Given the description of an element on the screen output the (x, y) to click on. 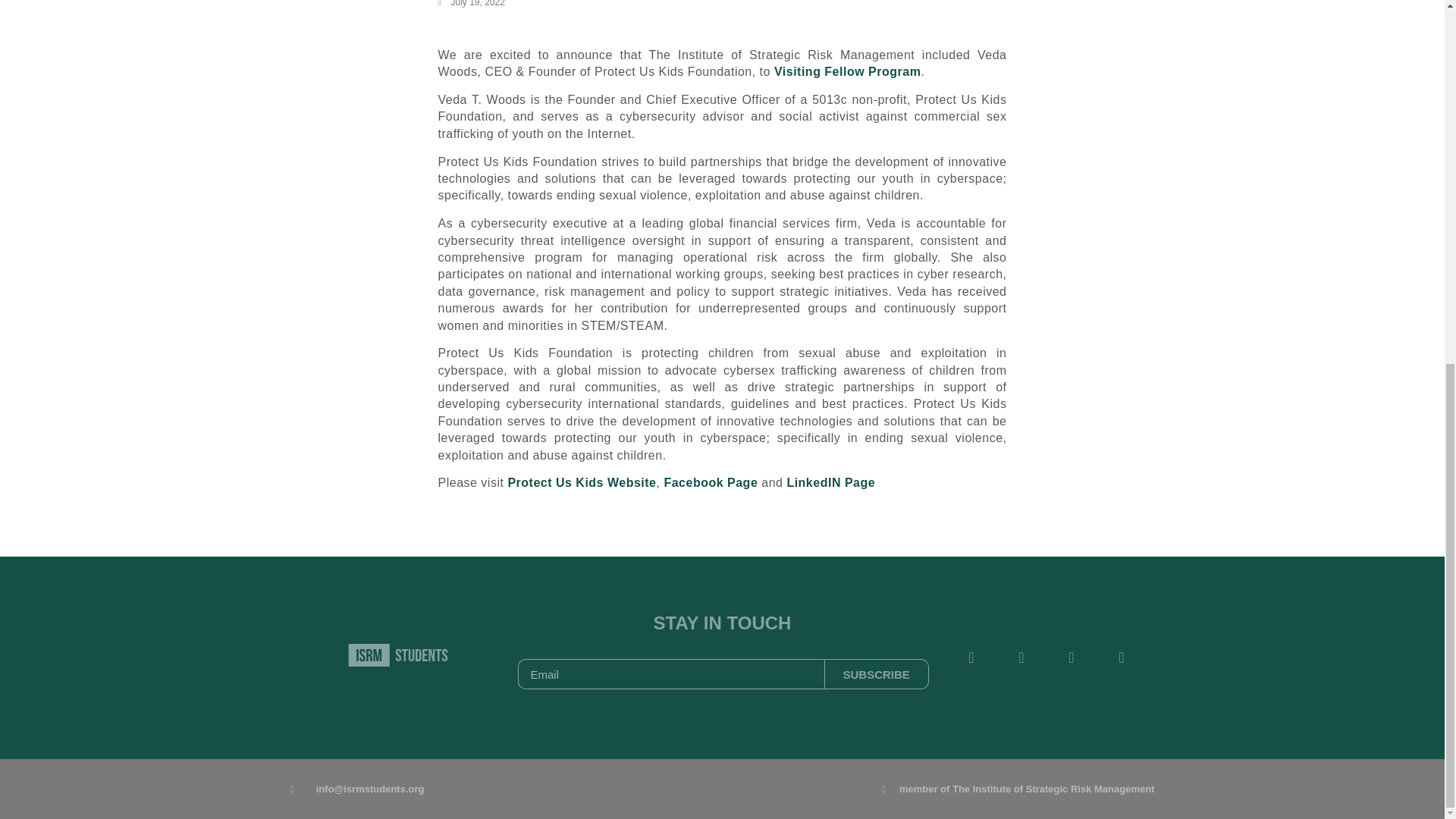
LinkedIN Page (830, 481)
Protect Us Kids Website (581, 481)
SUBSCRIBE (876, 674)
Facebook Page (710, 481)
member of The Institute of Strategic Risk Management (938, 789)
Visiting Fellow Program (847, 71)
